Given the description of an element on the screen output the (x, y) to click on. 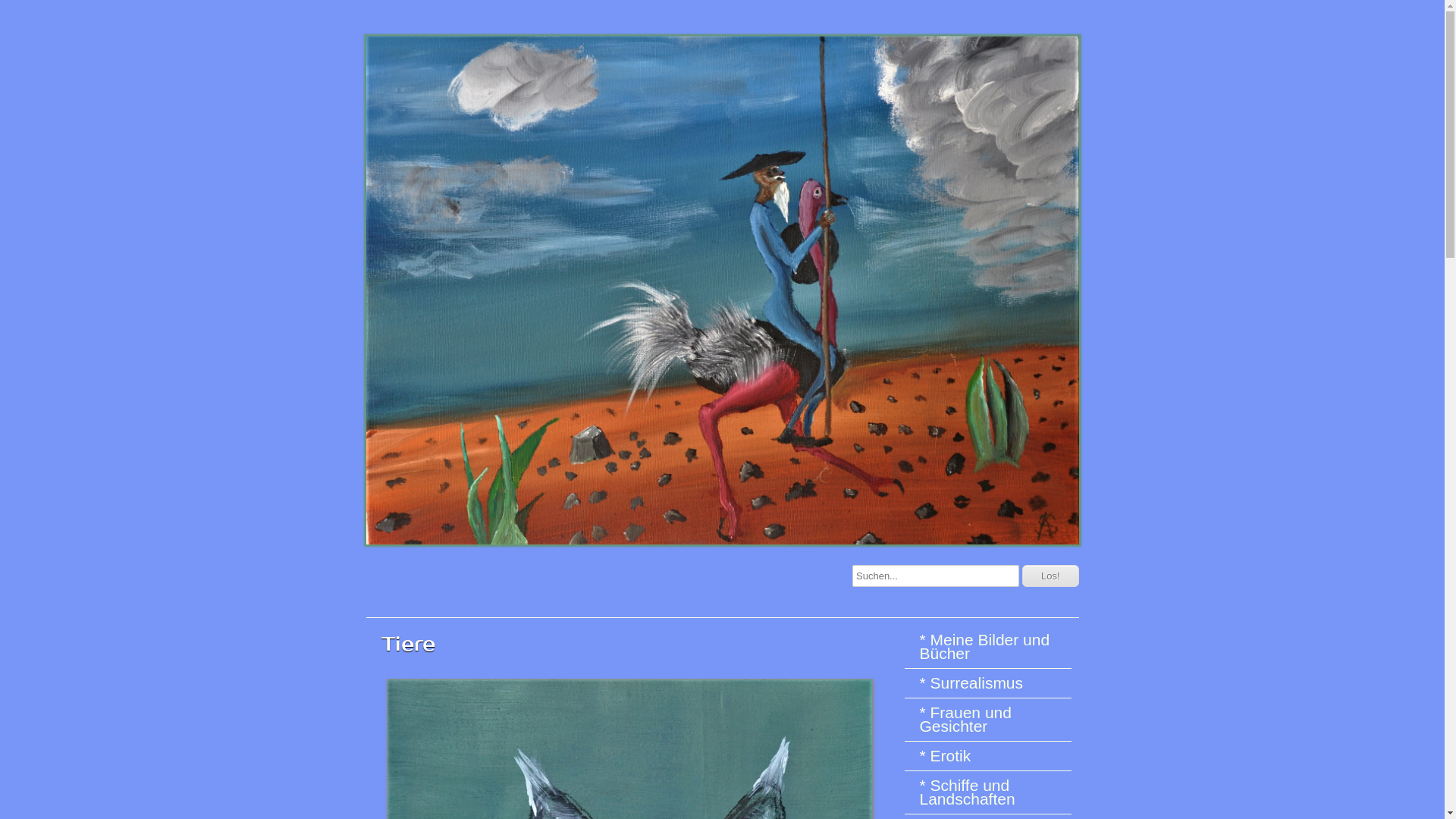
Frauen und Gesichter Element type: text (991, 719)
Los! Element type: text (1050, 575)
Schiffe und Landschaften Element type: text (991, 792)
Surrealismus Element type: text (991, 683)
Erotik Element type: text (991, 755)
